Given the description of an element on the screen output the (x, y) to click on. 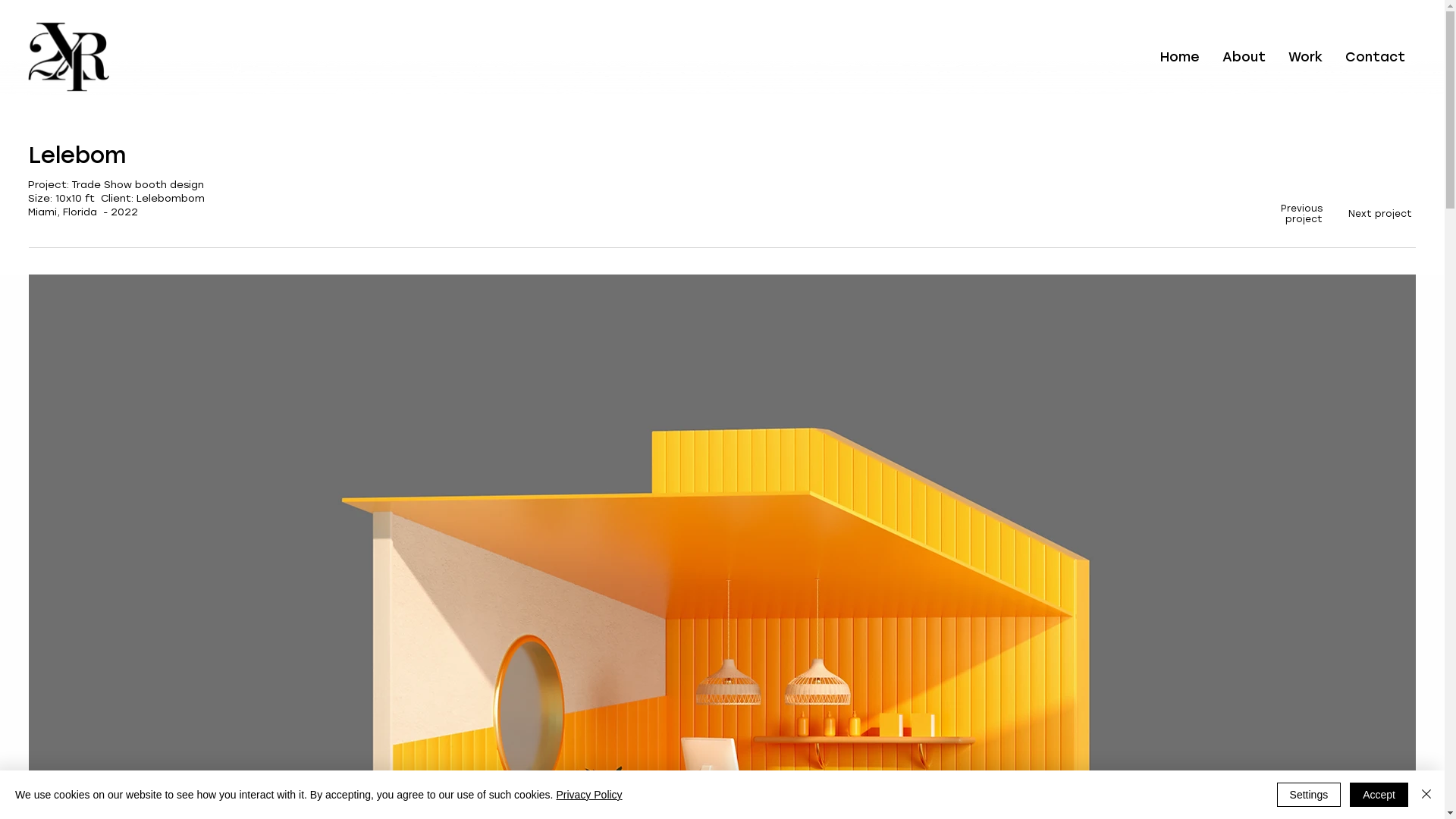
Settings Element type: text (1309, 794)
Home Element type: text (1179, 56)
Accept Element type: text (1378, 794)
About Element type: text (1243, 56)
Privacy Policy Element type: text (588, 794)
Next project Element type: text (1380, 213)
Contact Element type: text (1375, 56)
Previous project Element type: text (1301, 213)
Work Element type: text (1305, 56)
